Given the description of an element on the screen output the (x, y) to click on. 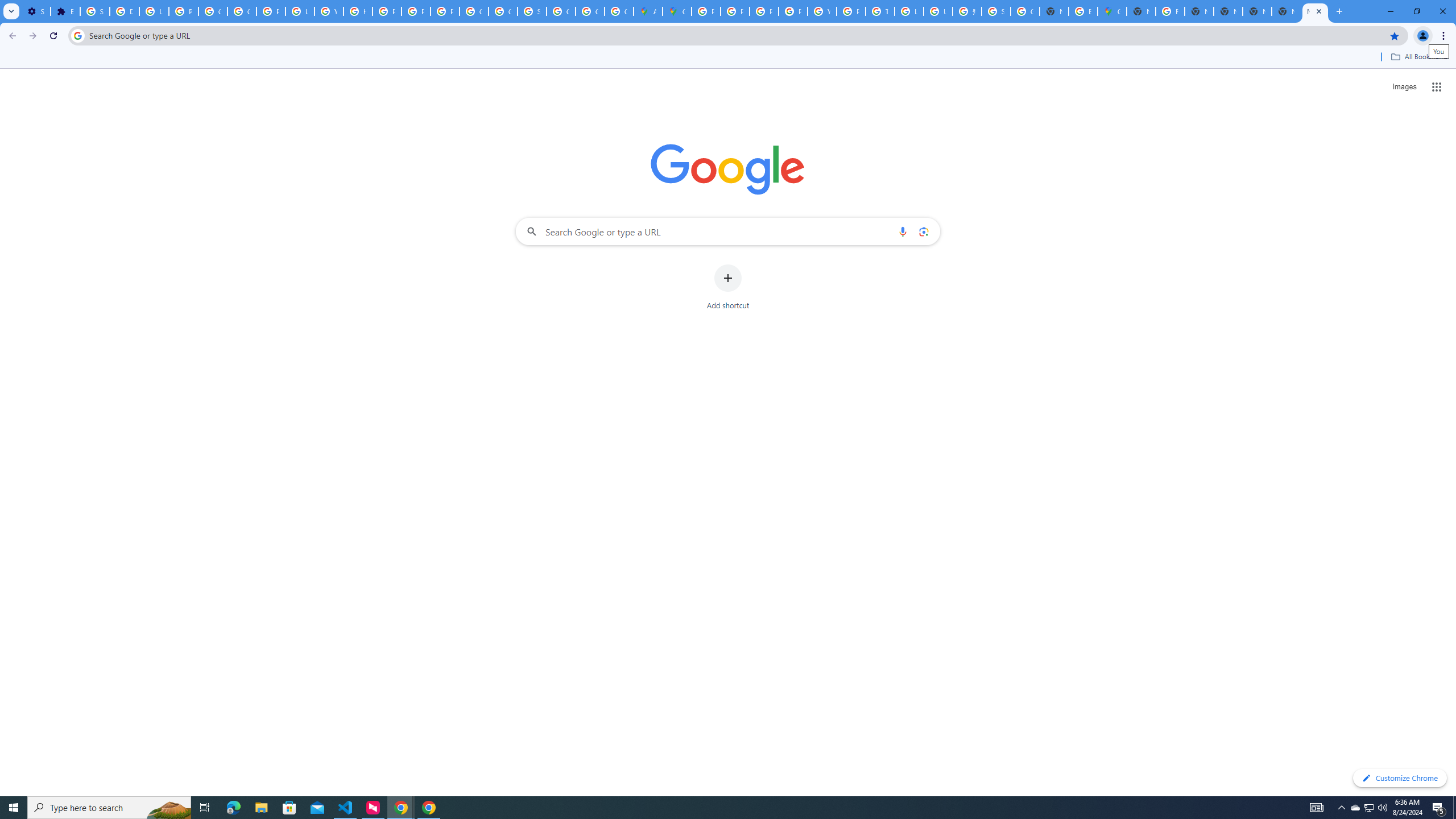
Privacy Help Center - Policies Help (763, 11)
Add shortcut (727, 287)
Privacy Help Center - Policies Help (386, 11)
Sign in - Google Accounts (95, 11)
